Given the description of an element on the screen output the (x, y) to click on. 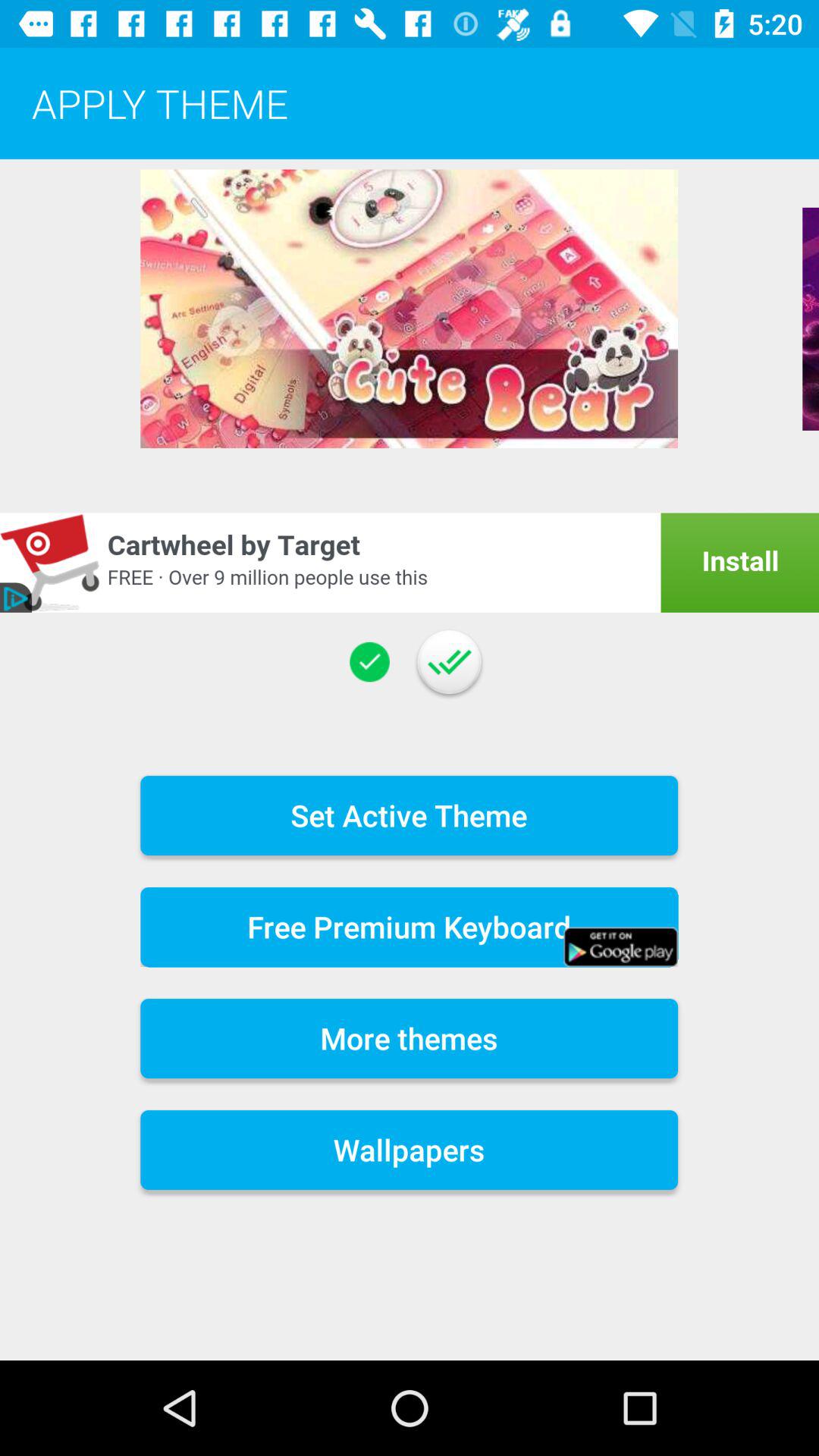
turn off the item below more themes icon (408, 1149)
